Given the description of an element on the screen output the (x, y) to click on. 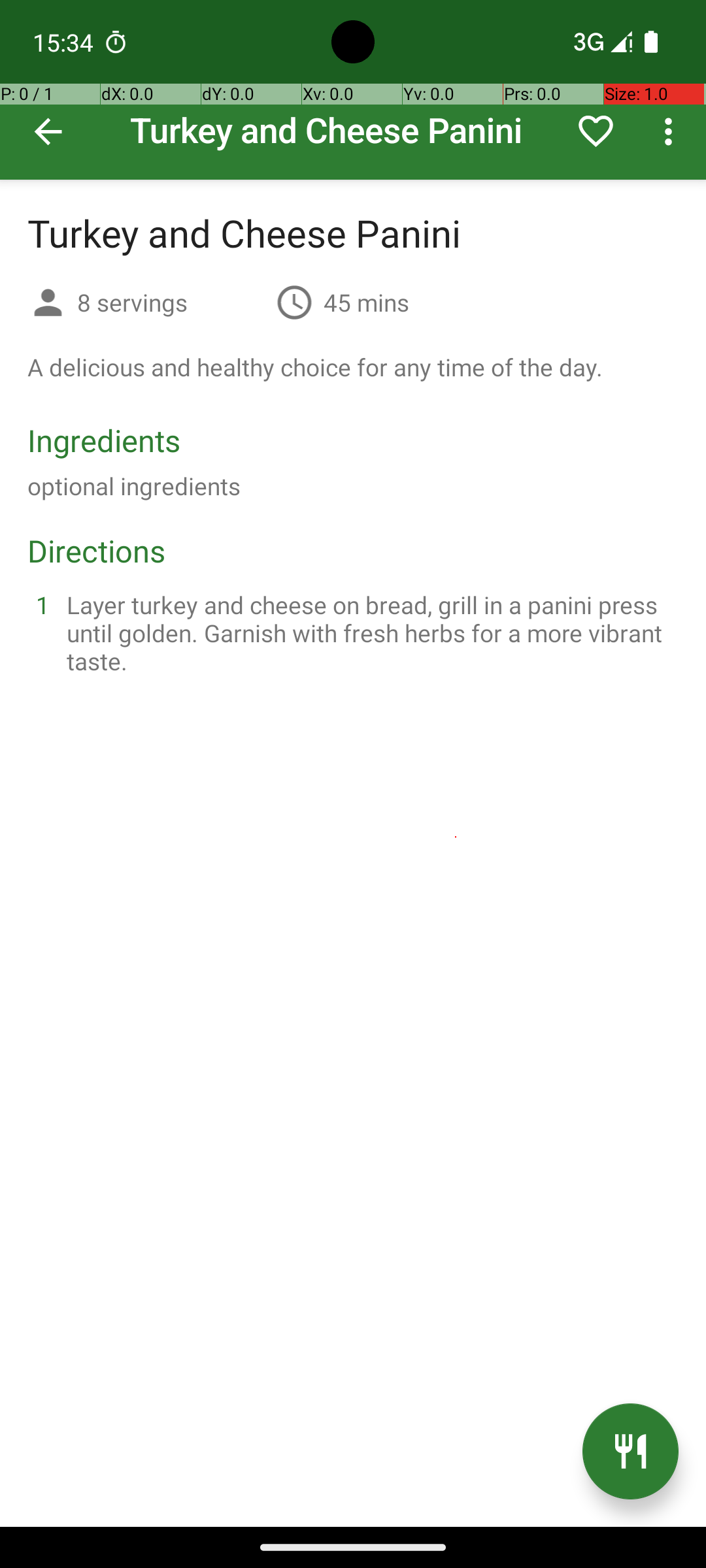
Turkey and Cheese Panini Element type: android.widget.FrameLayout (353, 89)
Layer turkey and cheese on bread, grill in a panini press until golden. Garnish with fresh herbs for a more vibrant taste. Element type: android.widget.TextView (368, 632)
